Given the description of an element on the screen output the (x, y) to click on. 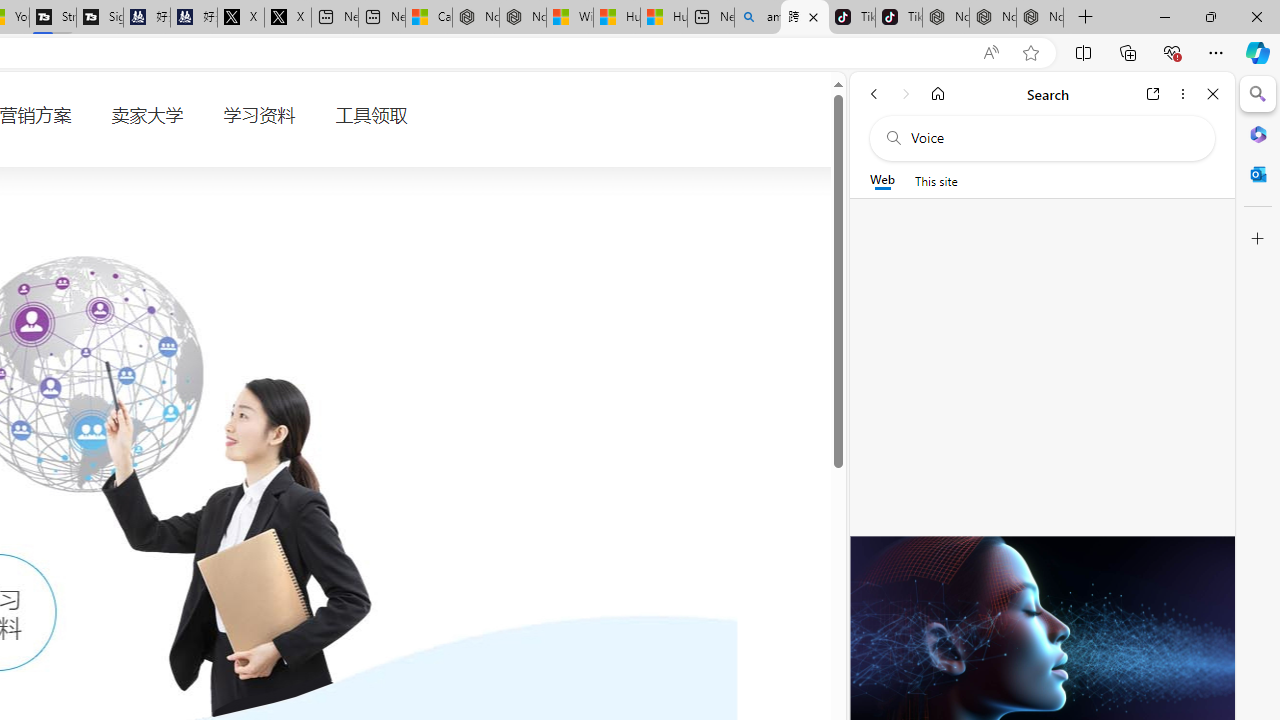
Nordace Siena Pro 15 Backpack (993, 17)
Open link in new tab (1153, 93)
Outlook (1258, 174)
